Given the description of an element on the screen output the (x, y) to click on. 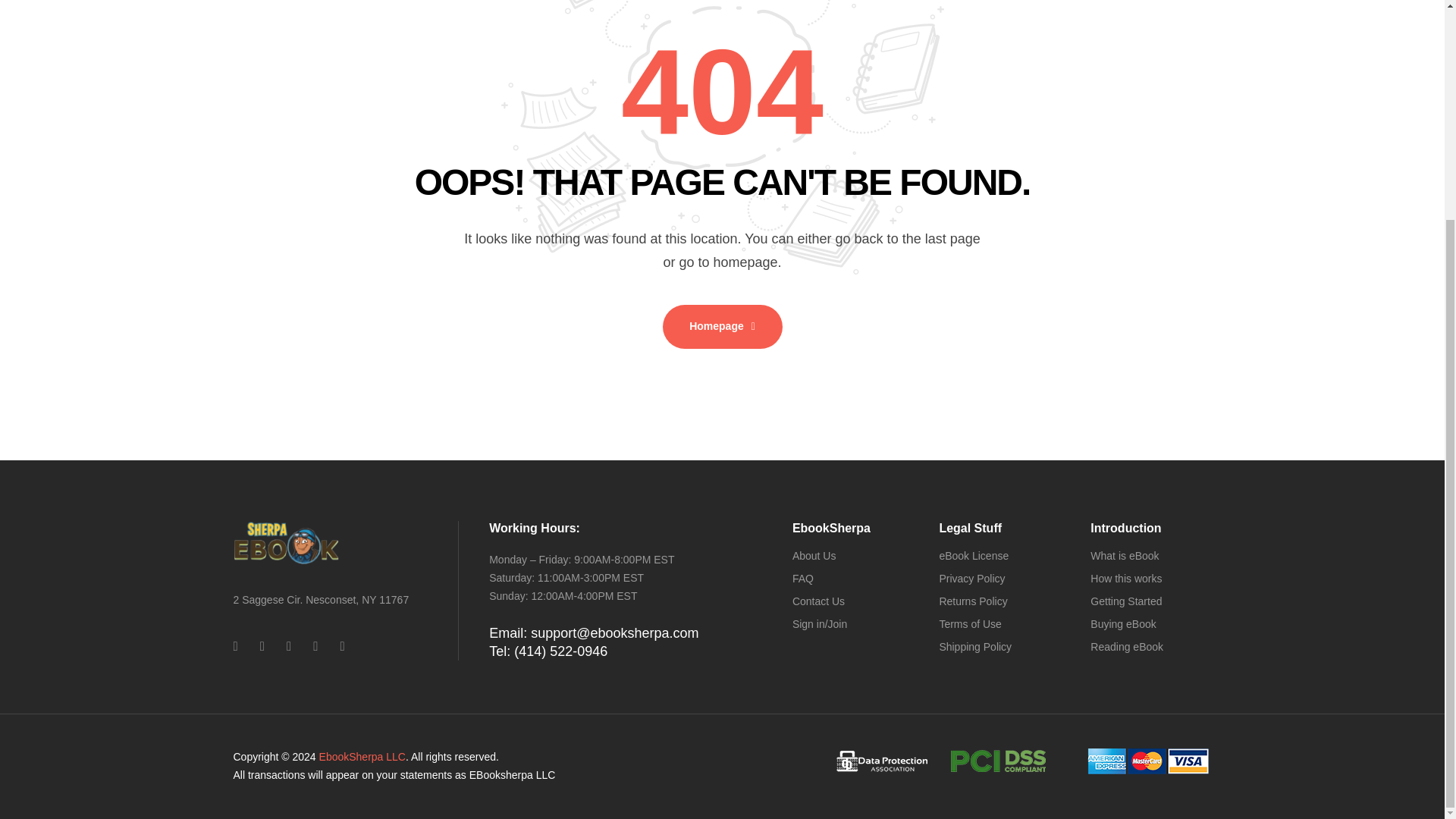
Homepage (722, 326)
FAQ (854, 579)
About Us (854, 556)
Contact Us (854, 601)
Terms of Use (1003, 624)
Returns Policy (1003, 601)
eBook License (1003, 556)
Privacy Policy (1003, 579)
Shipping Policy (1003, 647)
